Given the description of an element on the screen output the (x, y) to click on. 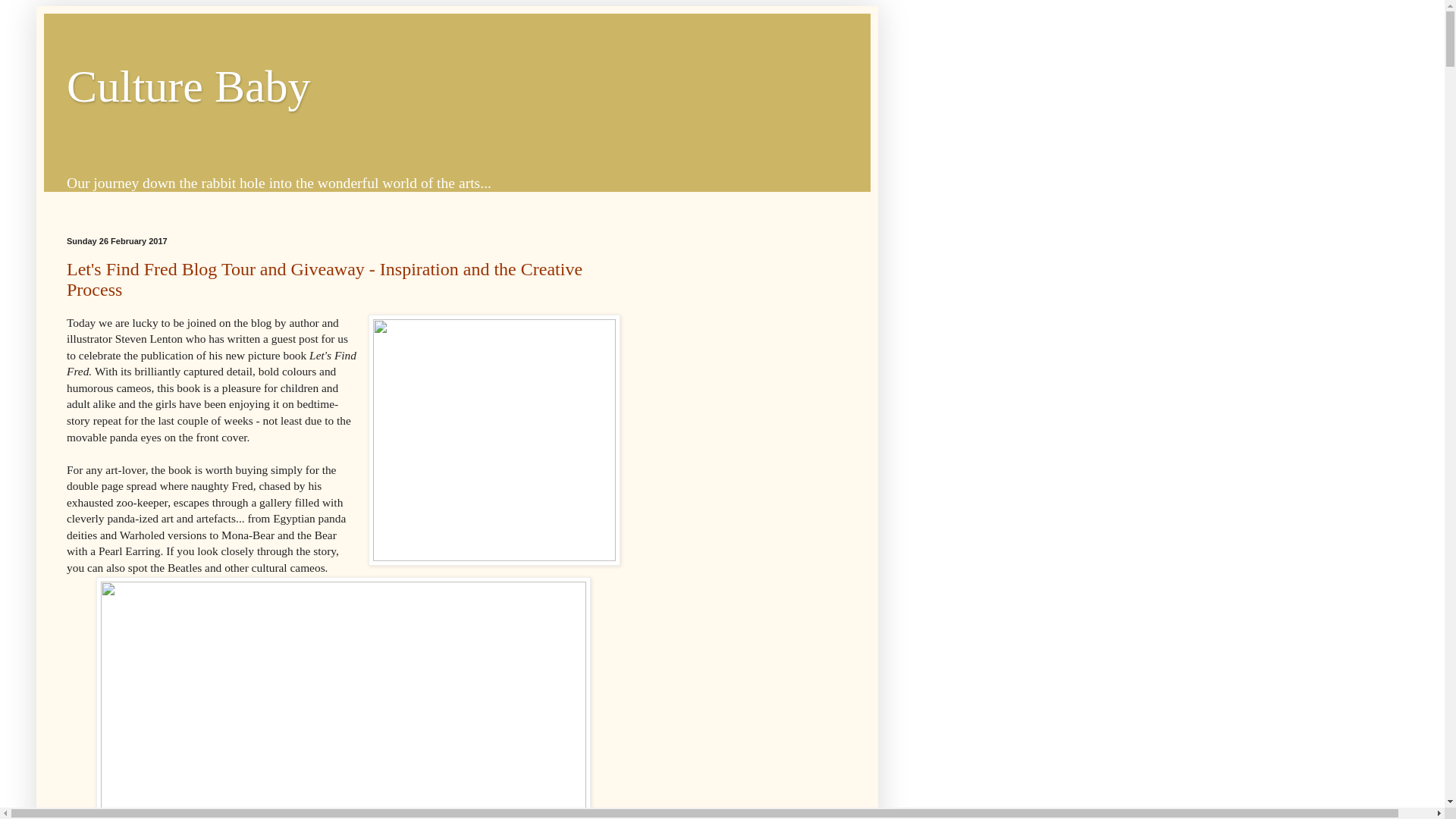
Culture Baby (188, 86)
